Given the description of an element on the screen output the (x, y) to click on. 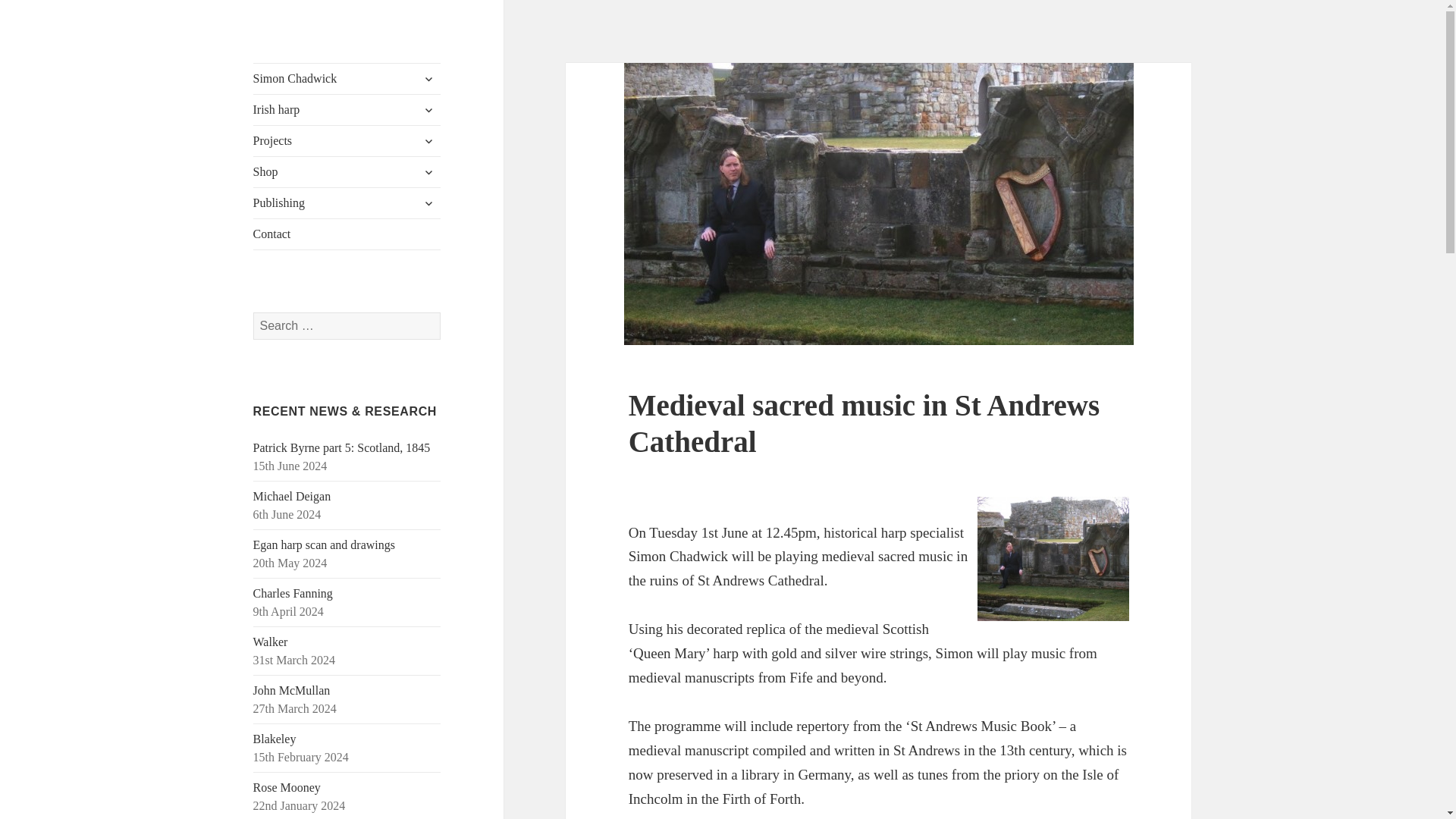
Old Irish and Scottish harp music (347, 110)
expand child menu (428, 202)
expand child menu (428, 109)
expand child menu (428, 140)
Simon Chadwick (347, 78)
Contact (347, 234)
Shop (347, 172)
Projects (347, 141)
Egan harp scan and drawings (324, 544)
Irish harp (347, 110)
Simon Chadwick (334, 74)
Michael Deigan (292, 495)
expand child menu (428, 78)
